Given the description of an element on the screen output the (x, y) to click on. 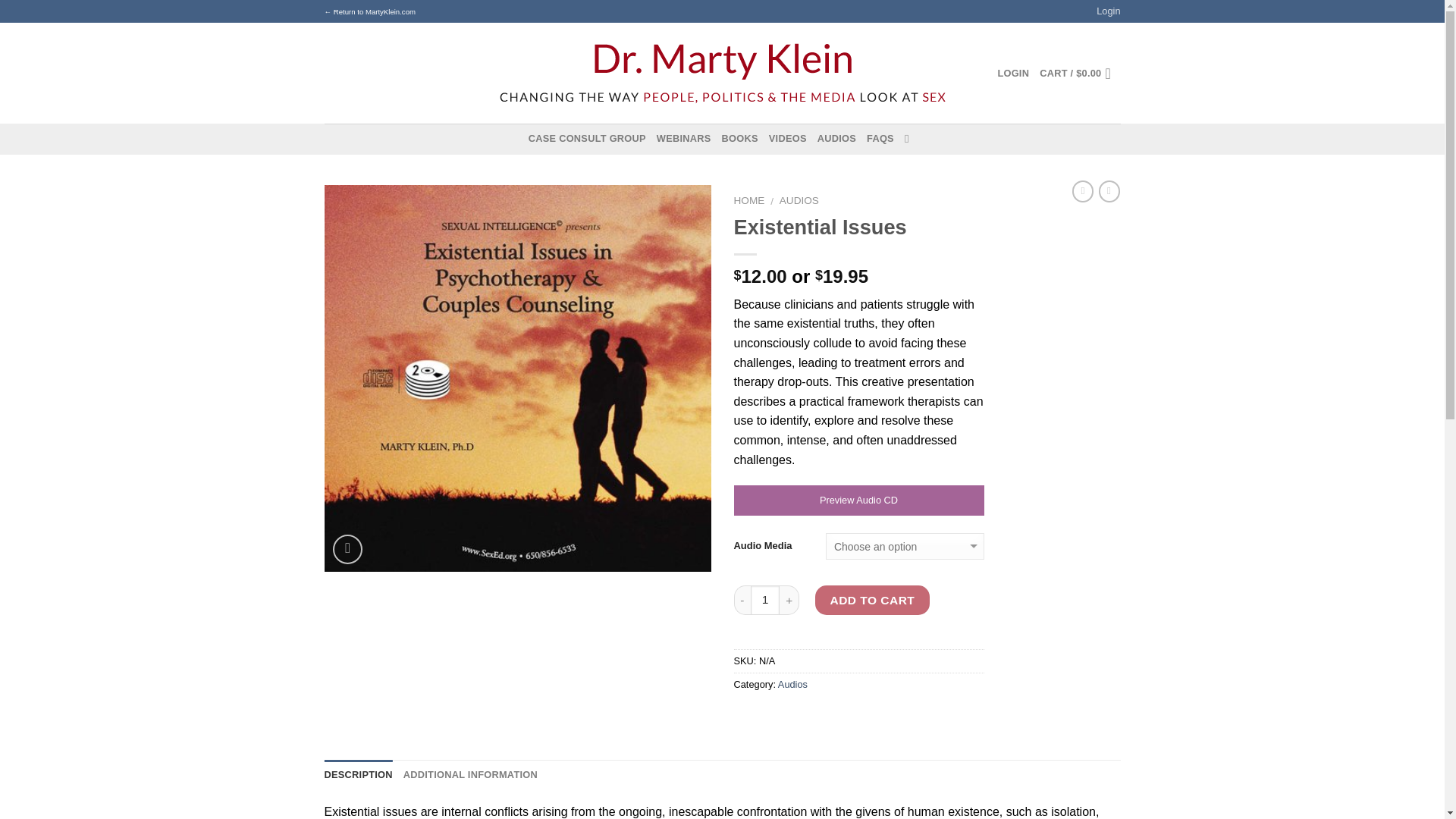
BOOKS (740, 138)
AUDIOS (798, 200)
VIDEOS (787, 138)
Cart (1079, 73)
FAQS (879, 138)
ADD TO CART (872, 600)
Preview Audio CD (858, 500)
LOGIN (1013, 73)
AUDIOS (836, 138)
Audios (792, 684)
HOME (749, 200)
ADDITIONAL INFORMATION (470, 775)
1 (765, 600)
CASE CONSULT GROUP (587, 138)
WEBINARS (683, 138)
